Given the description of an element on the screen output the (x, y) to click on. 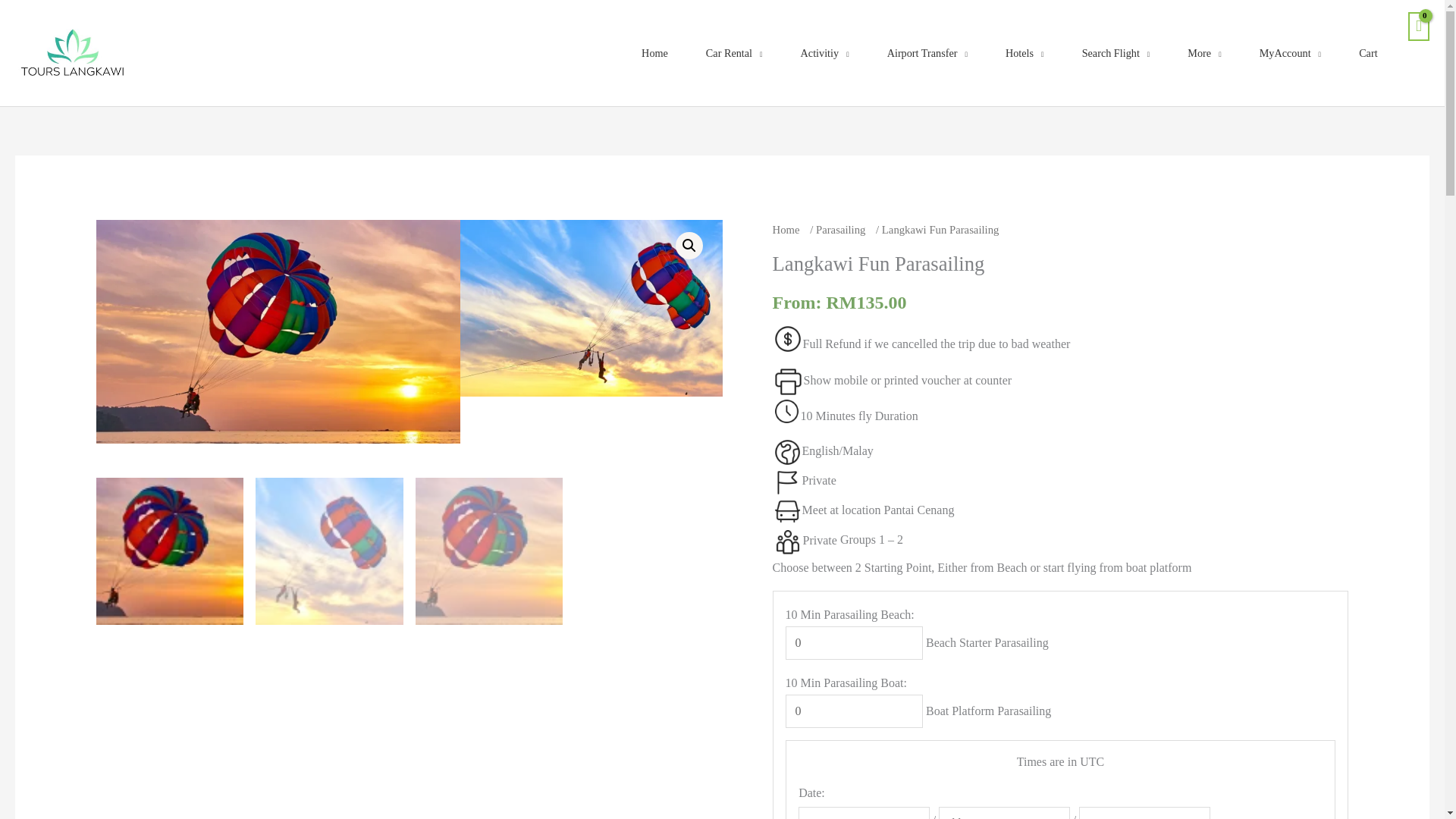
Home (654, 52)
Activitiy (825, 52)
More (1204, 52)
Airport Transfer (927, 52)
Car Rental (733, 52)
2024 (1143, 812)
0 (854, 643)
0 (854, 711)
Parasaling Langkawi 1 (642, 308)
Hotels (1024, 52)
Search Flight (1116, 52)
Parasaling Langkawi 2 (278, 331)
